Given the description of an element on the screen output the (x, y) to click on. 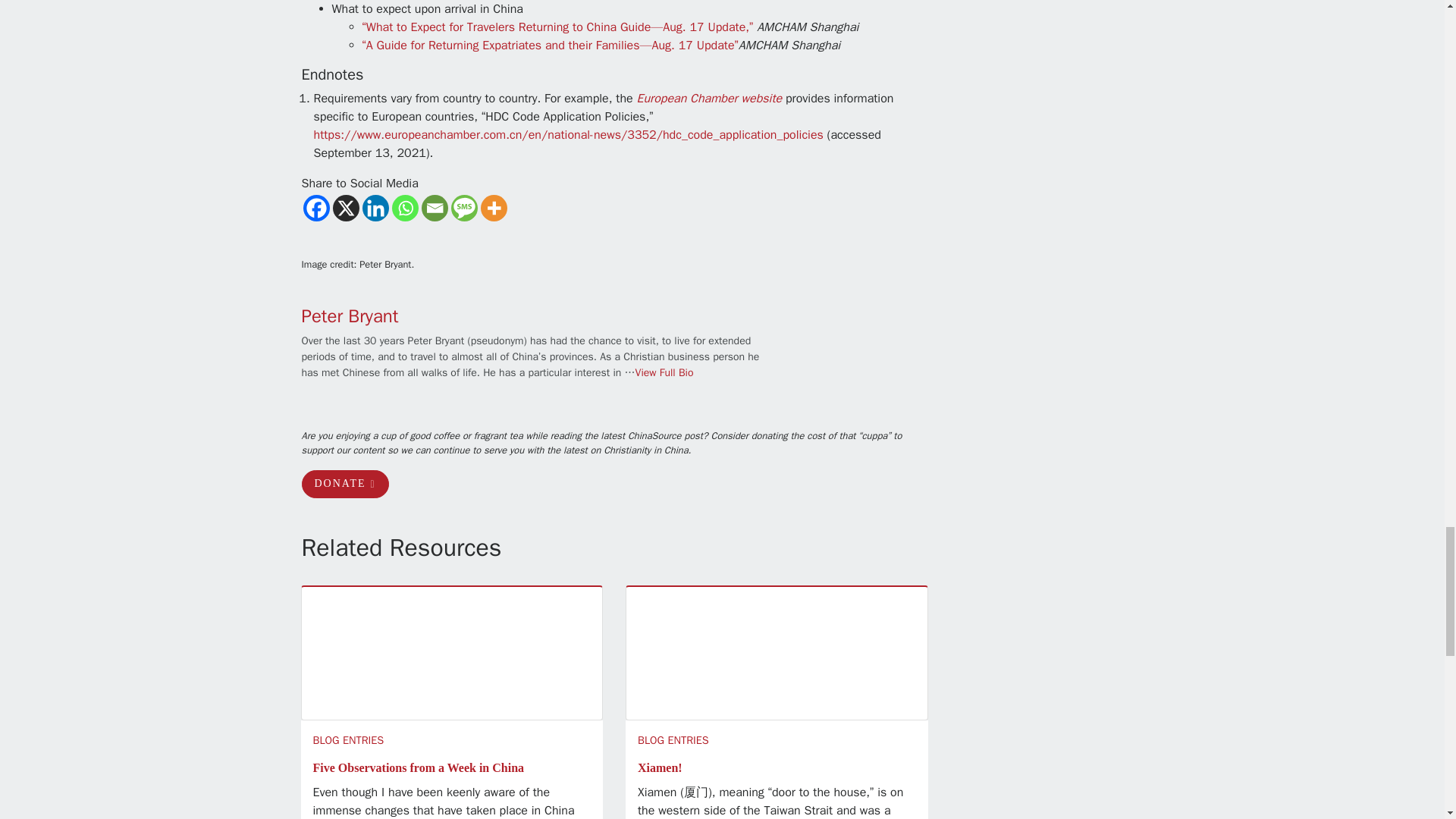
Facebook (316, 207)
Whatsapp (404, 207)
More (493, 207)
SMS (463, 207)
Linkedin (375, 207)
Peter Bryant (349, 315)
European Chamber website (708, 98)
Email (435, 207)
X (344, 207)
